Given the description of an element on the screen output the (x, y) to click on. 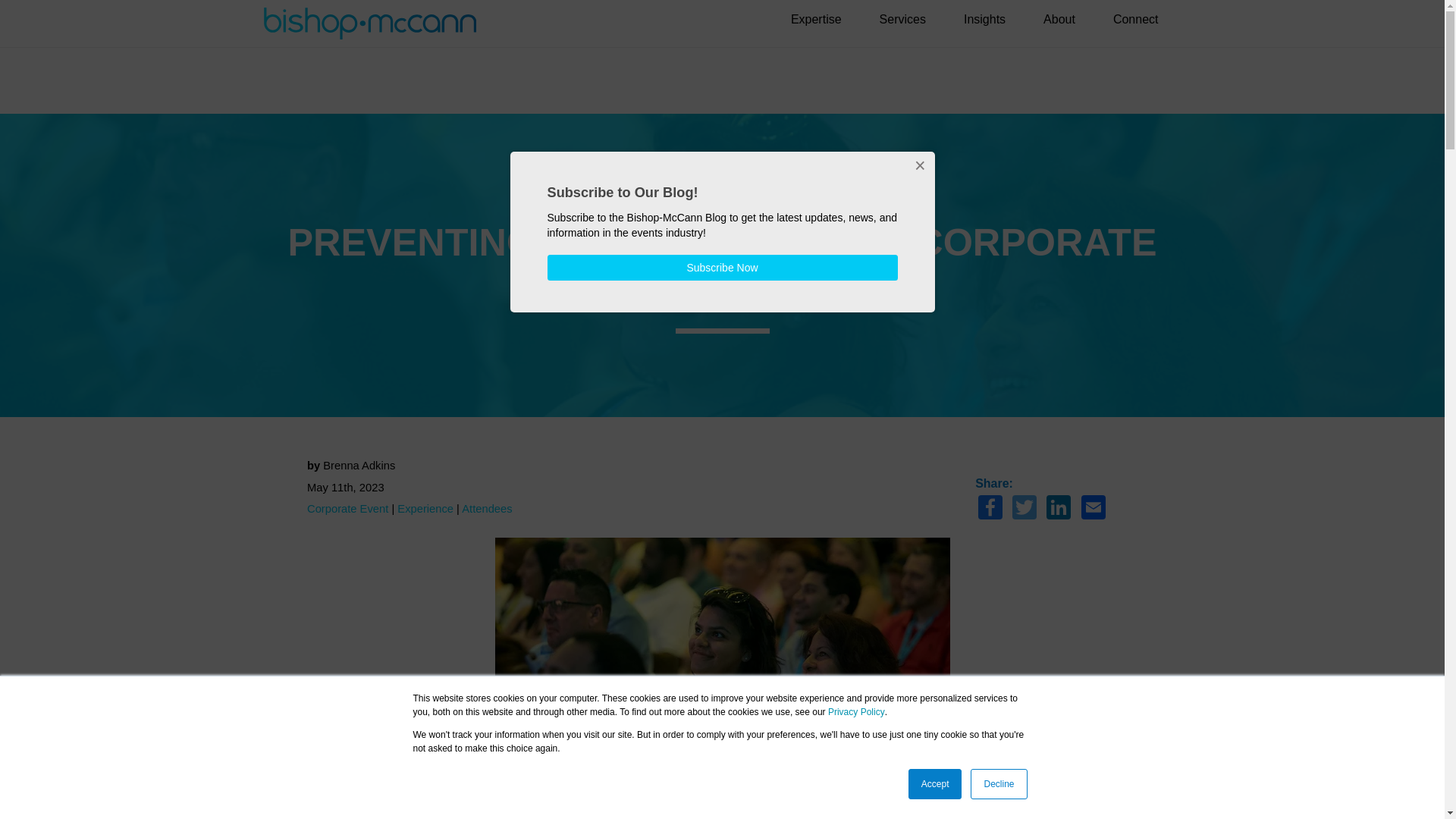
Connect (1135, 18)
Email (1093, 509)
Services (902, 18)
Insights (984, 18)
LinkedIn (1058, 509)
Facebook (990, 509)
Expertise (816, 18)
About (1058, 18)
Brenna Adkins (358, 465)
Privacy Policy (856, 711)
Experience (424, 508)
Twitter (1024, 509)
Accept (935, 784)
Corporate Event (347, 508)
Decline (998, 784)
